Given the description of an element on the screen output the (x, y) to click on. 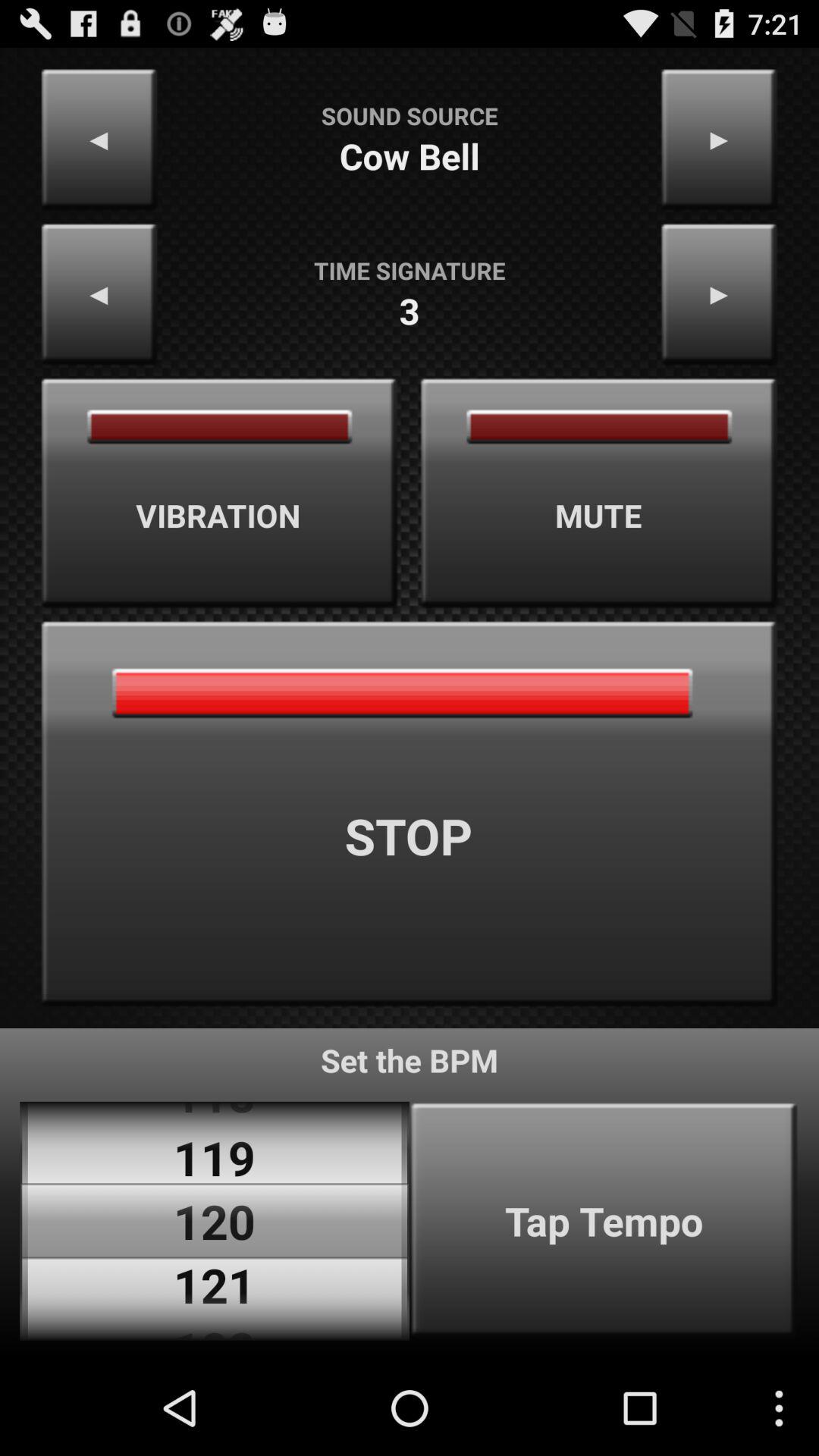
tap the mute item (599, 493)
